Given the description of an element on the screen output the (x, y) to click on. 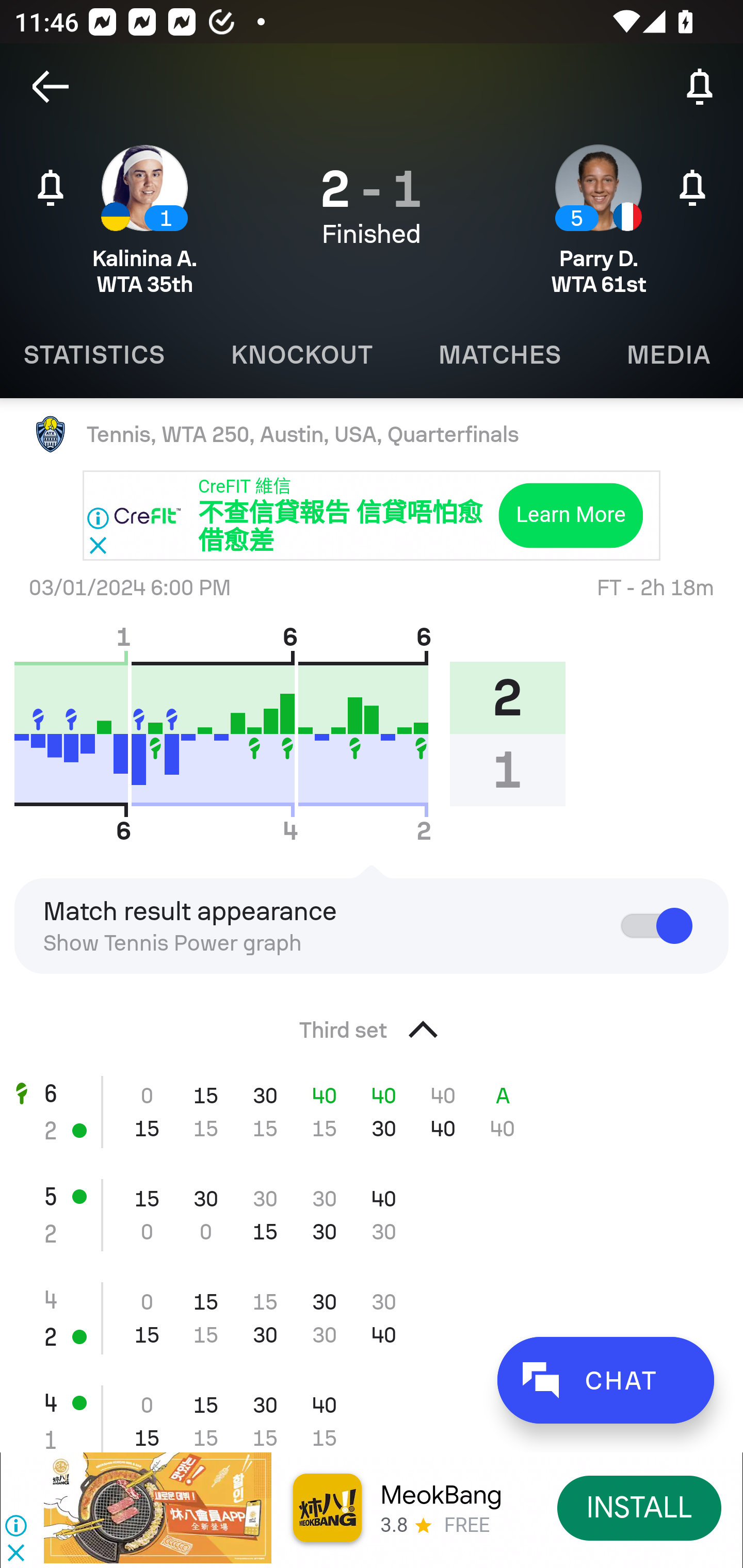
Navigate up (50, 86)
Statistics STATISTICS (98, 355)
Knockout KNOCKOUT (300, 355)
Matches MATCHES (498, 355)
Media MEDIA (668, 355)
Tennis, WTA 250, Austin, USA, Quarterfinals (371, 434)
1 6 6 4 6 2 2 1 (297, 733)
Third set (371, 1023)
6 0 15 30 40 40 40 A 2 15 15 15 15 30 40 40 (371, 1111)
5 15 30 30 30 40 2 0 0 15 30 30 (371, 1214)
4 0 15 15 30 30 2 15 15 30 30 40 (371, 1318)
CHAT (605, 1380)
4 0 15 30 40 1 15 15 15 15 (371, 1410)
INSTALL (639, 1507)
MeokBang (440, 1494)
